Given the description of an element on the screen output the (x, y) to click on. 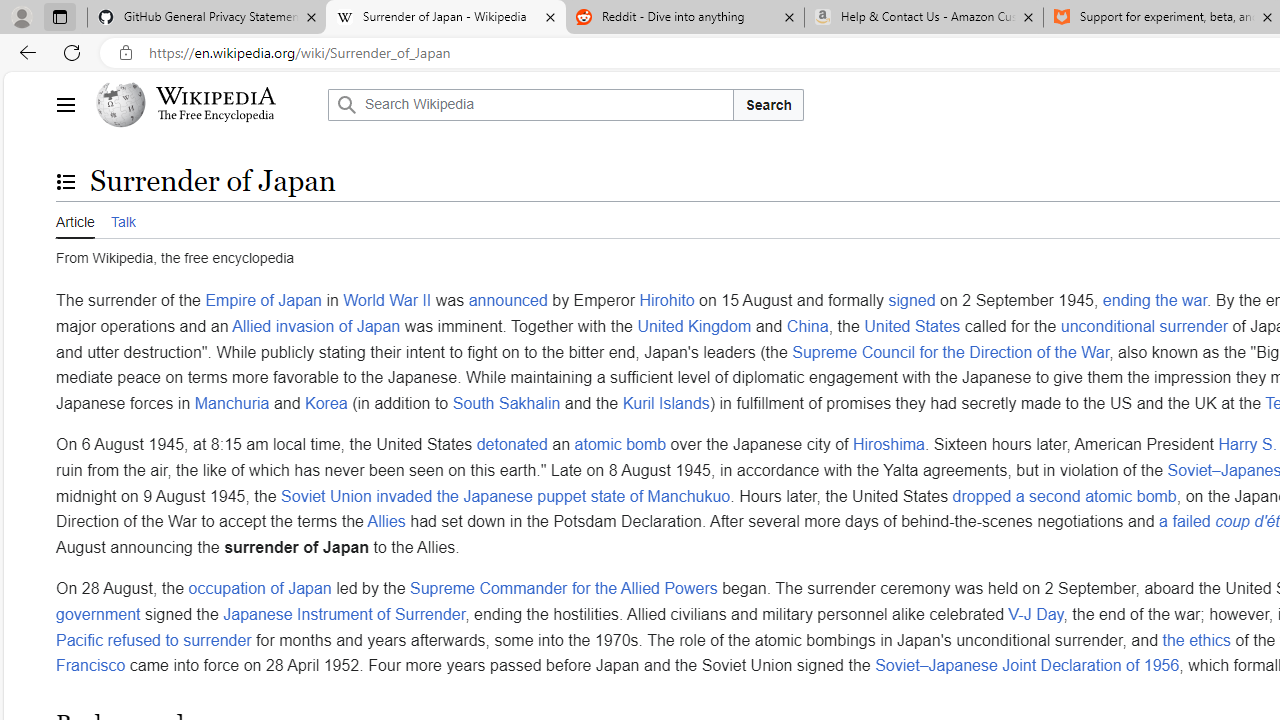
Talk (122, 219)
Surrender of Japan - Wikipedia (445, 17)
unconditional surrender (1143, 325)
atomic bomb (619, 445)
Empire of Japan (263, 301)
V-J Day (1035, 613)
Allies (386, 521)
China (807, 325)
detonated (511, 445)
Manchuria (232, 402)
Japanese Instrument of Surrender (343, 613)
